Given the description of an element on the screen output the (x, y) to click on. 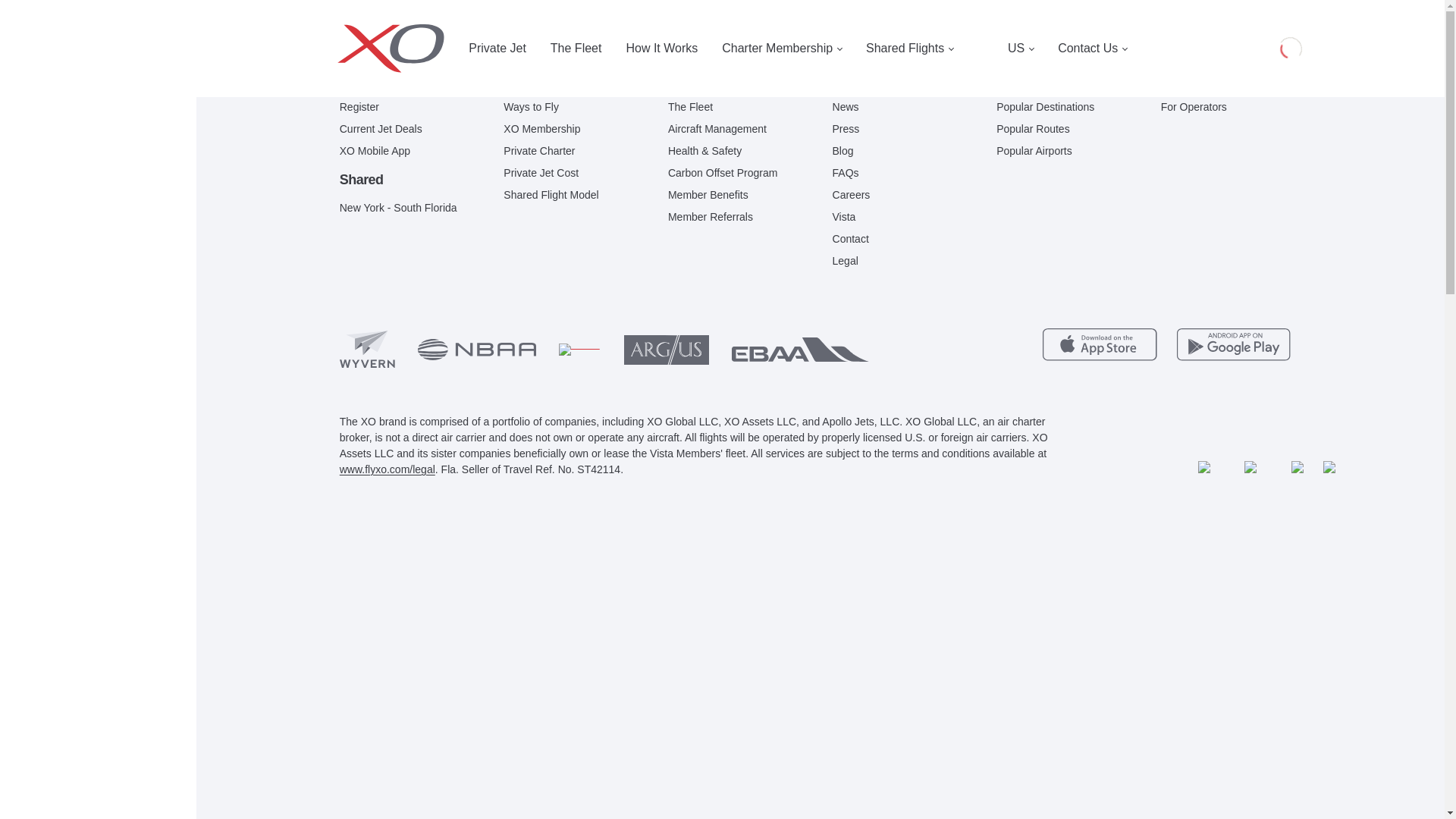
GET IT ON Google Play (1234, 344)
The XO Experience (714, 84)
Private Charter (539, 150)
Current Jet Deals (380, 129)
The Fleet (690, 107)
Contact Us (1092, 48)
Back (389, 79)
The Fleet (576, 48)
Shared Flight New York - South Florida (398, 207)
Private Jet Cost (540, 172)
How It Works (661, 48)
US (1021, 48)
Shared Flight Model (550, 195)
The Fleet (576, 48)
Private Jet (497, 48)
